Given the description of an element on the screen output the (x, y) to click on. 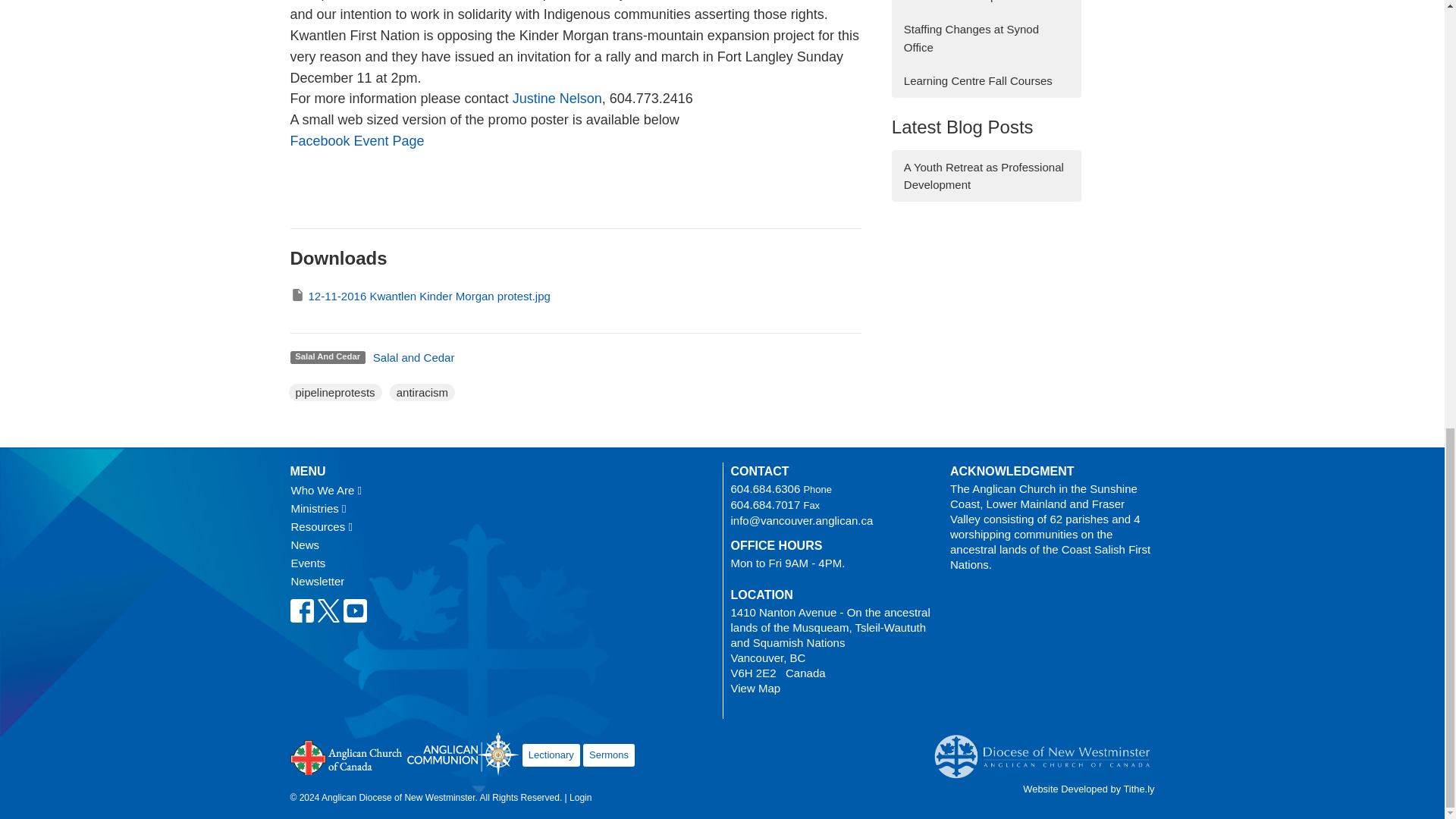
Salal and Cedar (413, 357)
Facebook Event Page (356, 140)
Youtube Icon (354, 610)
antiracism (422, 392)
Facebook Icon (301, 610)
12-11-2016 Kwantlen Kinder Morgan protest.jpg (419, 295)
Justine Nelson (557, 98)
pipelineprotests (335, 392)
To download, right-click the file and select "Save link as". (419, 295)
Twitter Icon (328, 610)
